Given the description of an element on the screen output the (x, y) to click on. 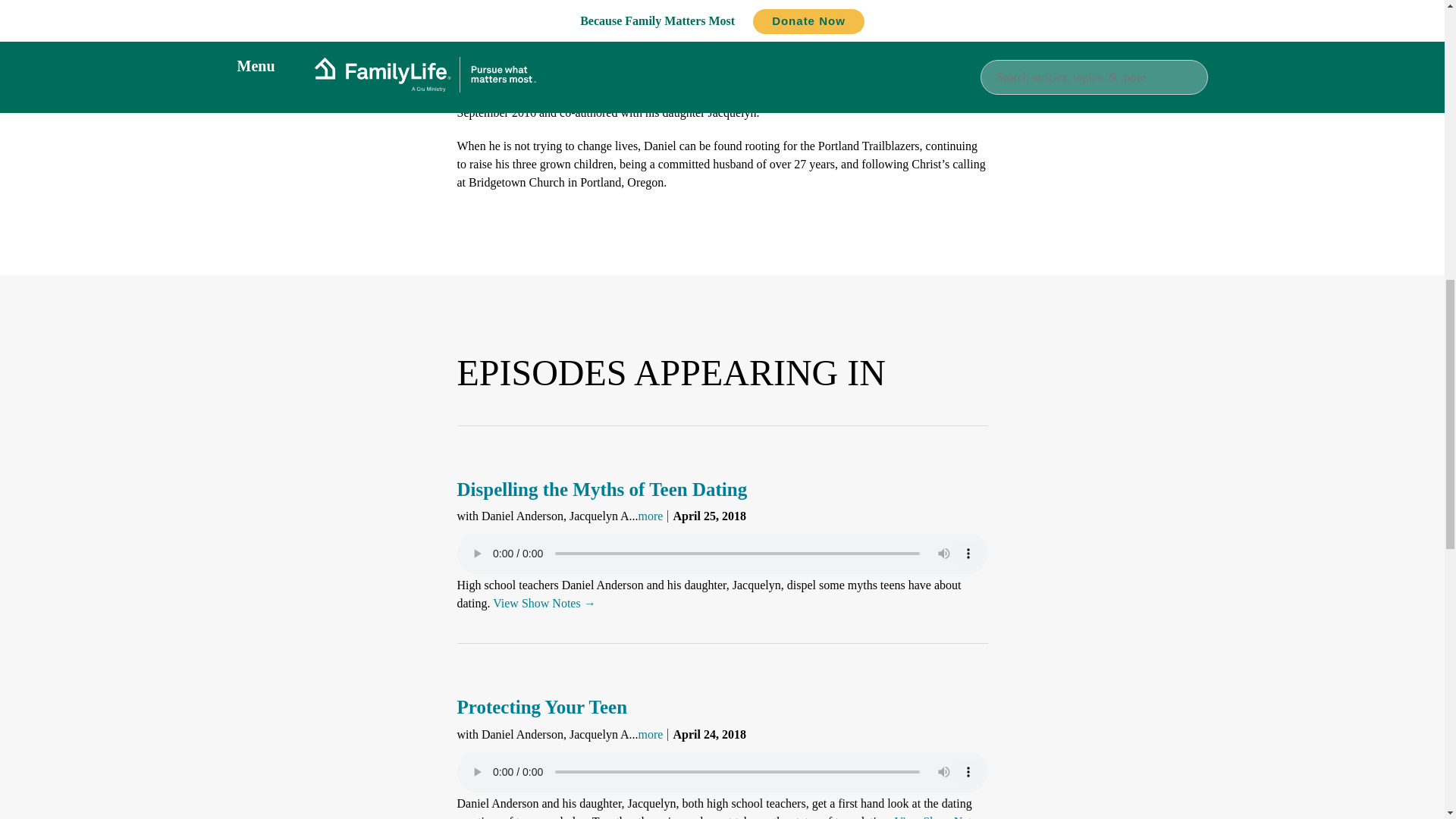
more (651, 515)
Protecting Your Teen (542, 706)
more (651, 734)
Dispelling the Myths of Teen Dating (601, 489)
